Given the description of an element on the screen output the (x, y) to click on. 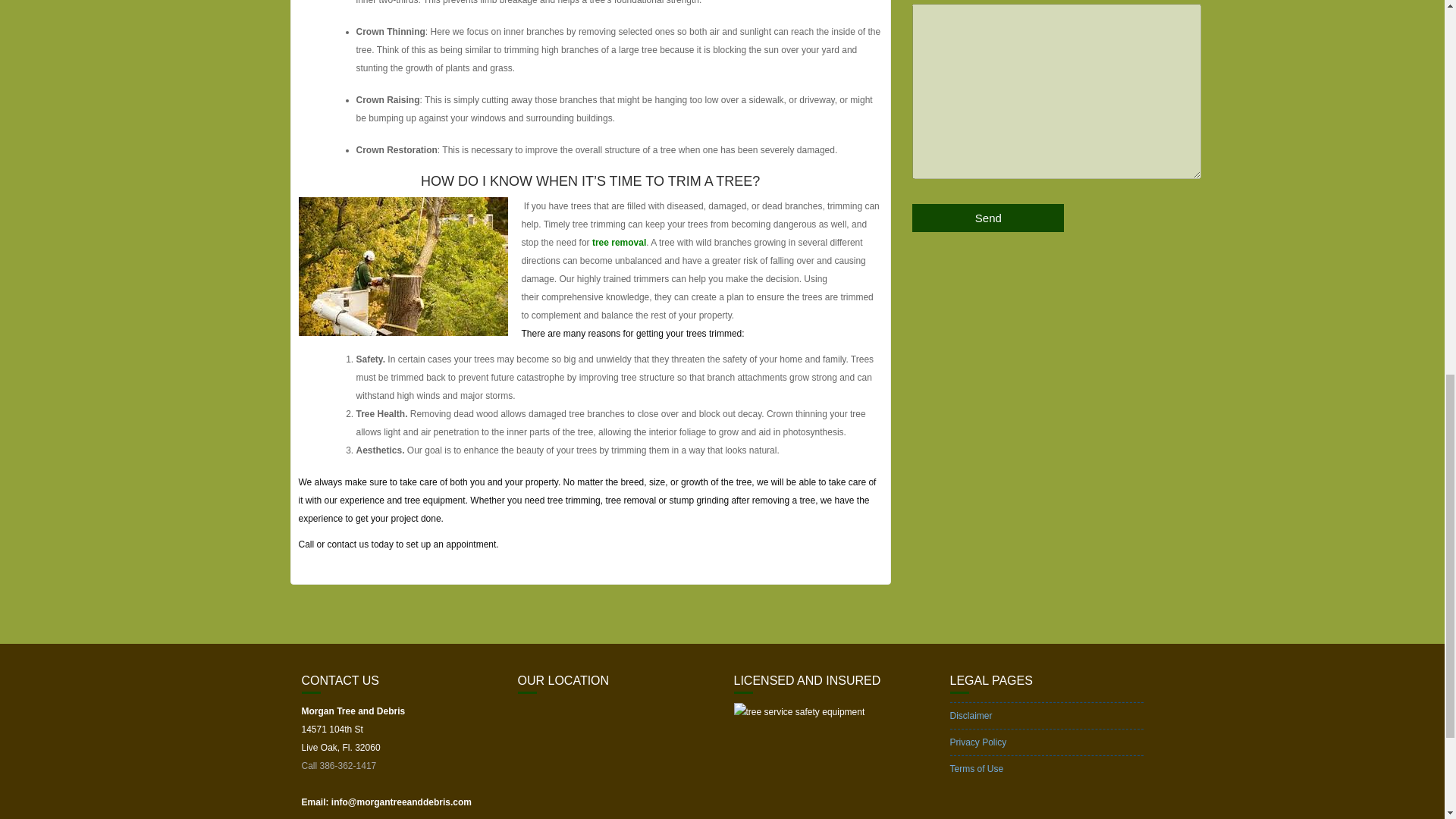
Send (988, 217)
Disclaimer (970, 715)
 tree removal (617, 242)
Send (988, 217)
Call 386-362-1417 (339, 765)
